Given the description of an element on the screen output the (x, y) to click on. 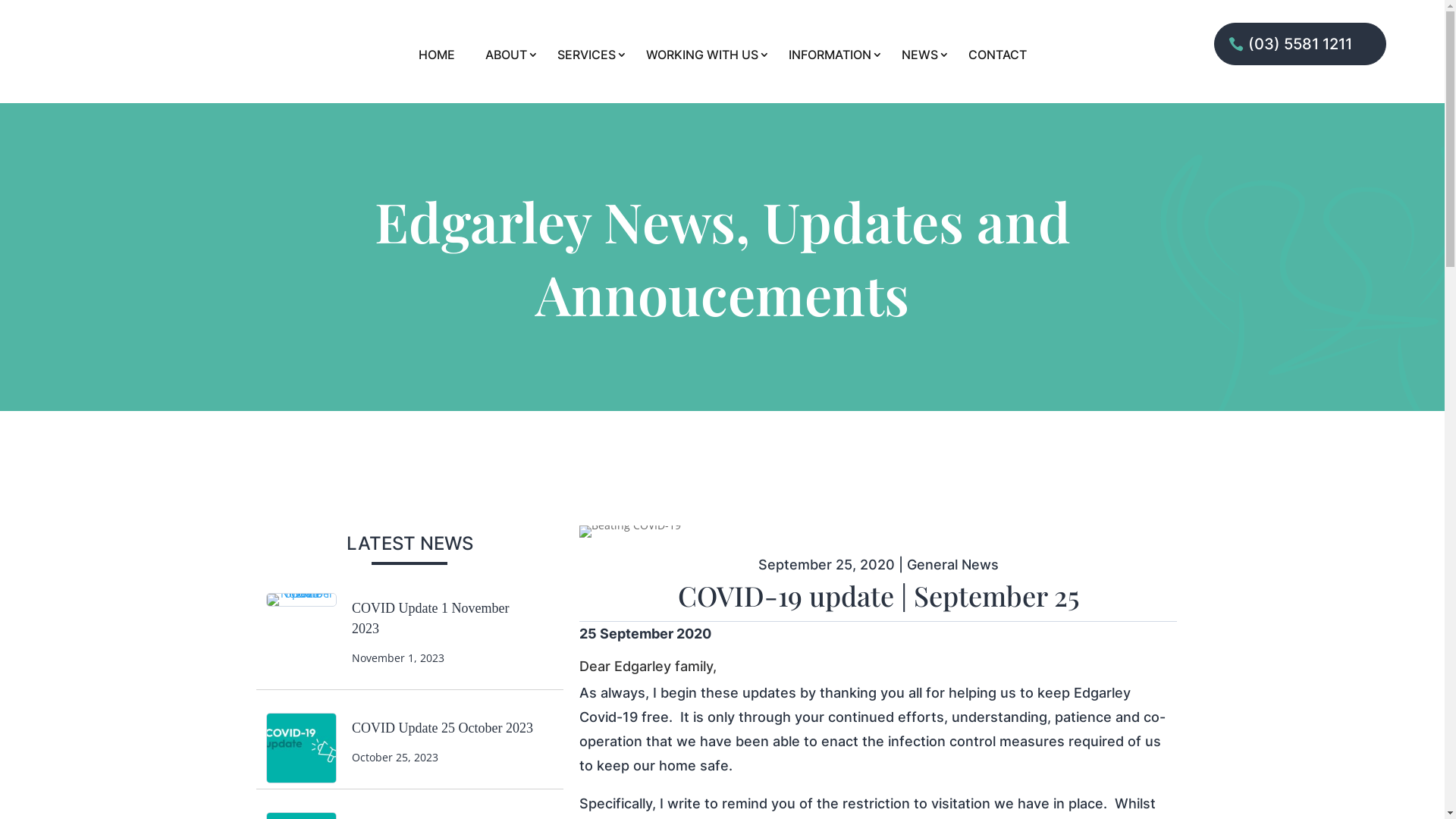
HOME Element type: text (436, 58)
COVID Update 25 October 2023 Element type: text (442, 727)
ABOUT Element type: text (506, 58)
CONTACT Element type: text (996, 58)
General News Element type: text (952, 564)
SERVICES Element type: text (585, 58)
WORKING WITH US Element type: text (702, 58)
COVID Update 1 November 2023 Element type: text (429, 618)
(03) 5581 1211 Element type: text (1300, 43)
NEWS Element type: text (918, 58)
COVID-19 update Element type: hover (629, 531)
INFORMATION Element type: text (829, 58)
